Given the description of an element on the screen output the (x, y) to click on. 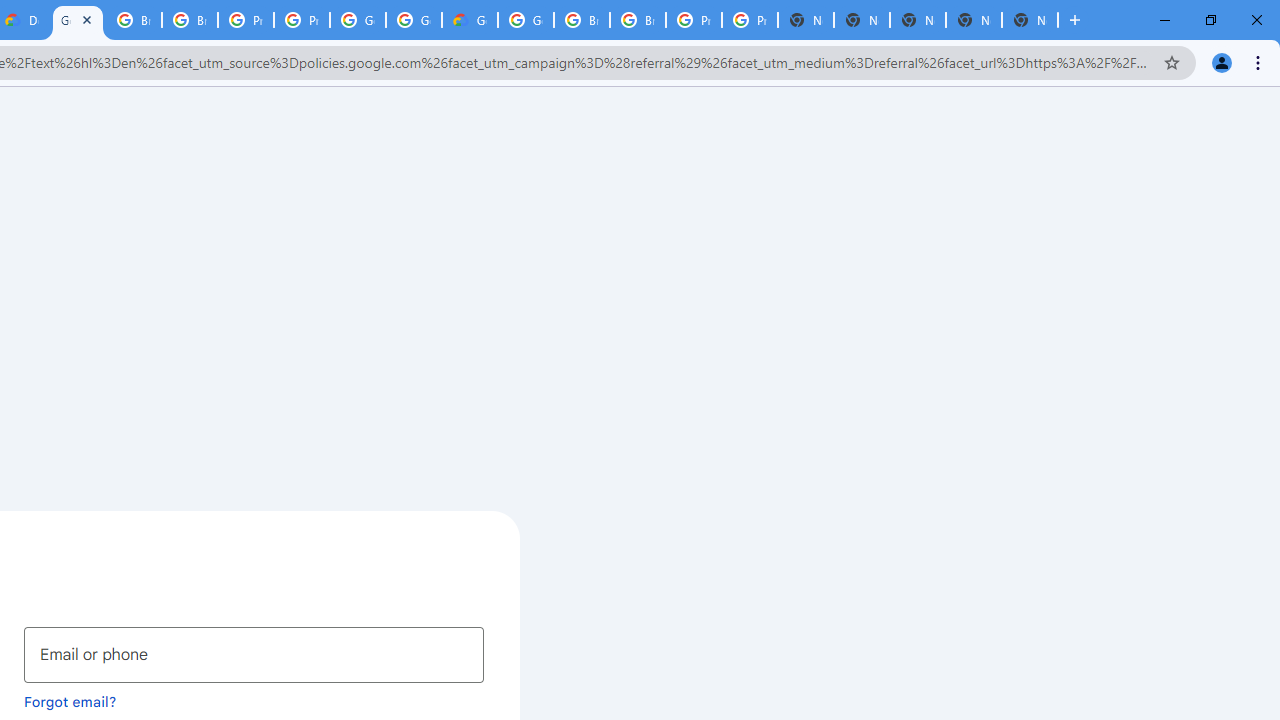
Google Cloud Platform (77, 20)
Email or phone (253, 654)
